Given the description of an element on the screen output the (x, y) to click on. 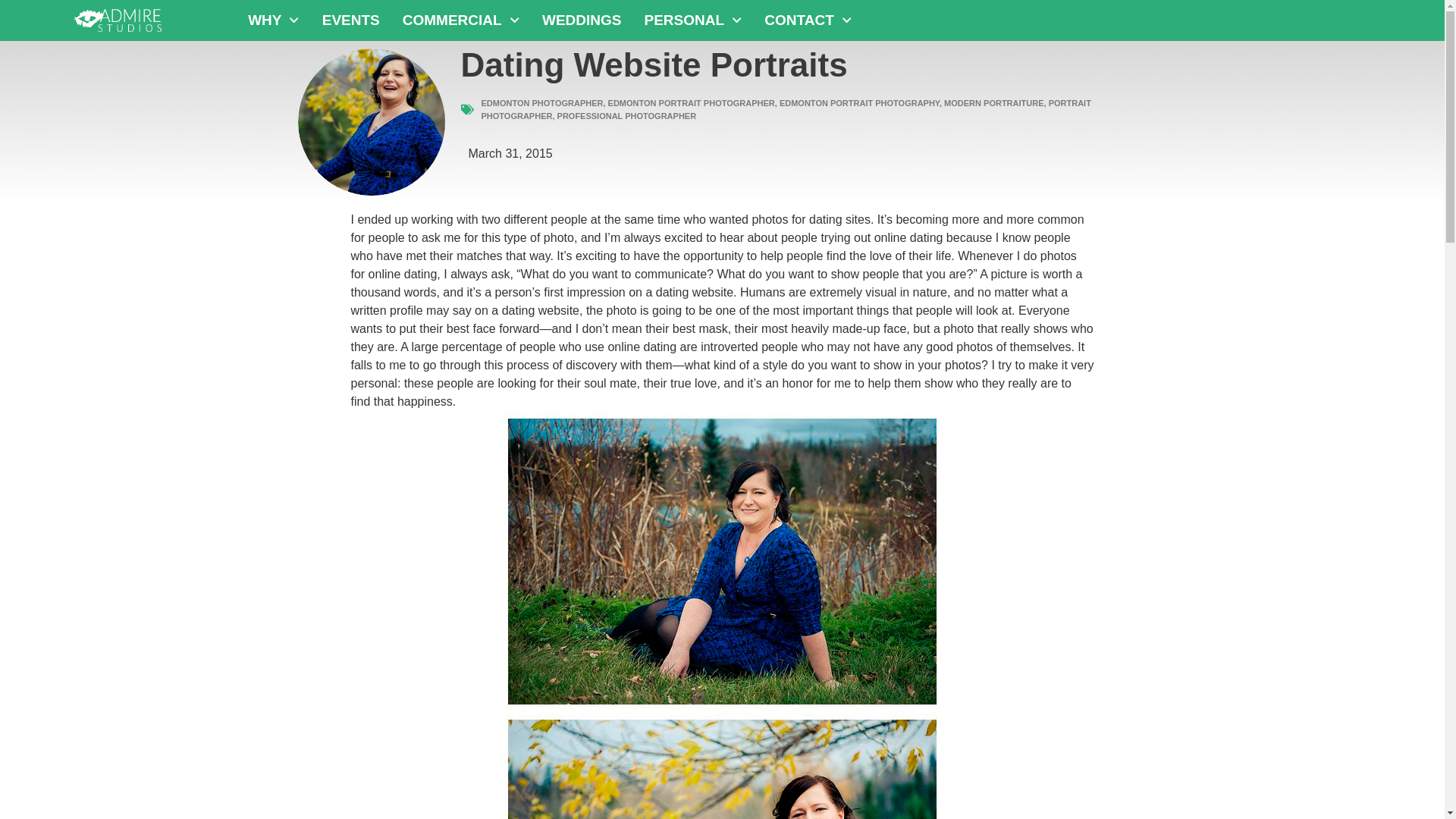
WEDDINGS (581, 20)
PERSONAL (692, 20)
CONTACT (807, 20)
EVENTS (351, 20)
COMMERCIAL (461, 20)
WHY (273, 20)
